Given the description of an element on the screen output the (x, y) to click on. 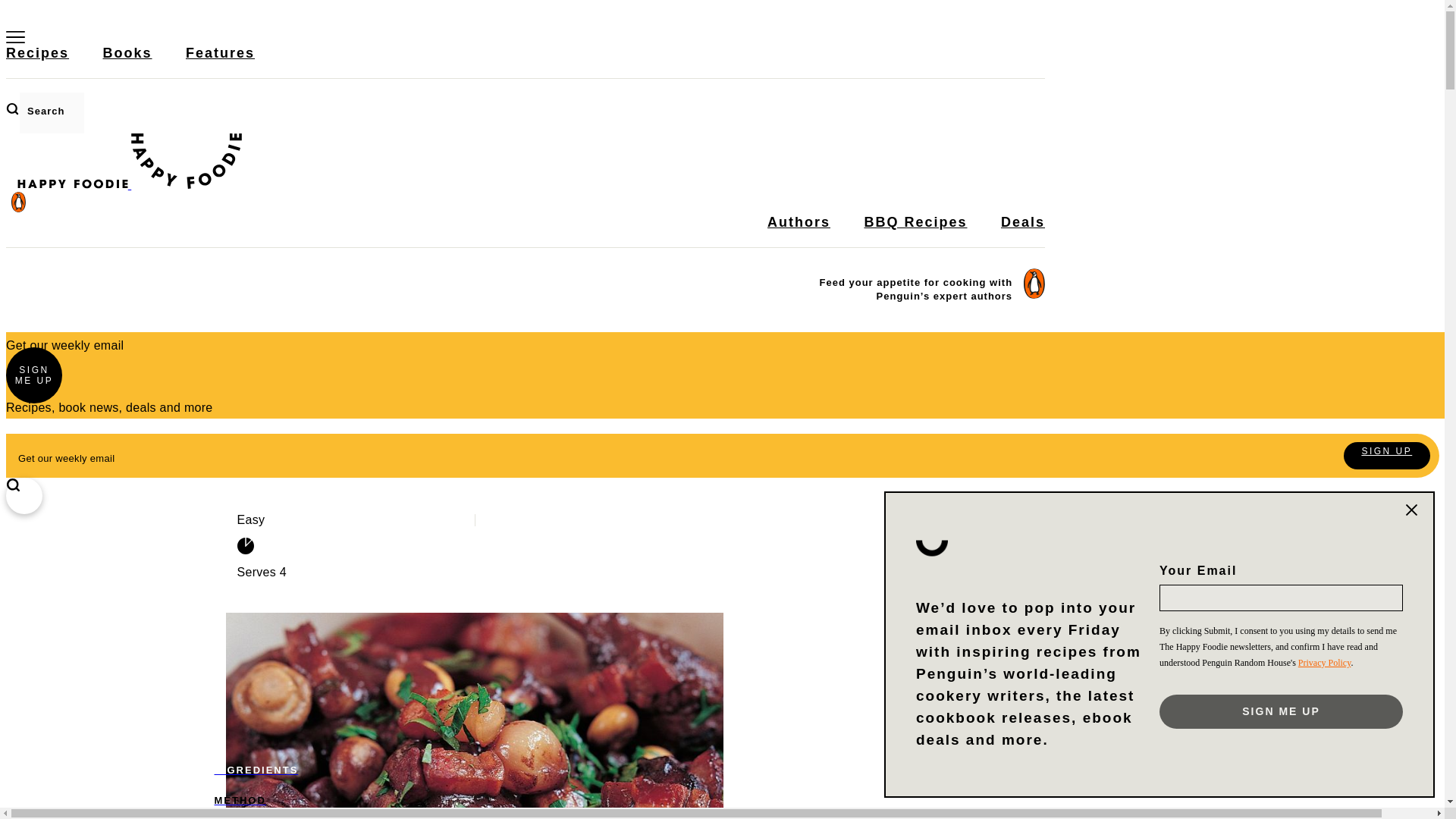
BBQ Recipes (914, 231)
Books (127, 61)
Sign me up (1280, 711)
Authors (798, 231)
Deals (1023, 231)
Recipes (36, 61)
Features (220, 61)
